Given the description of an element on the screen output the (x, y) to click on. 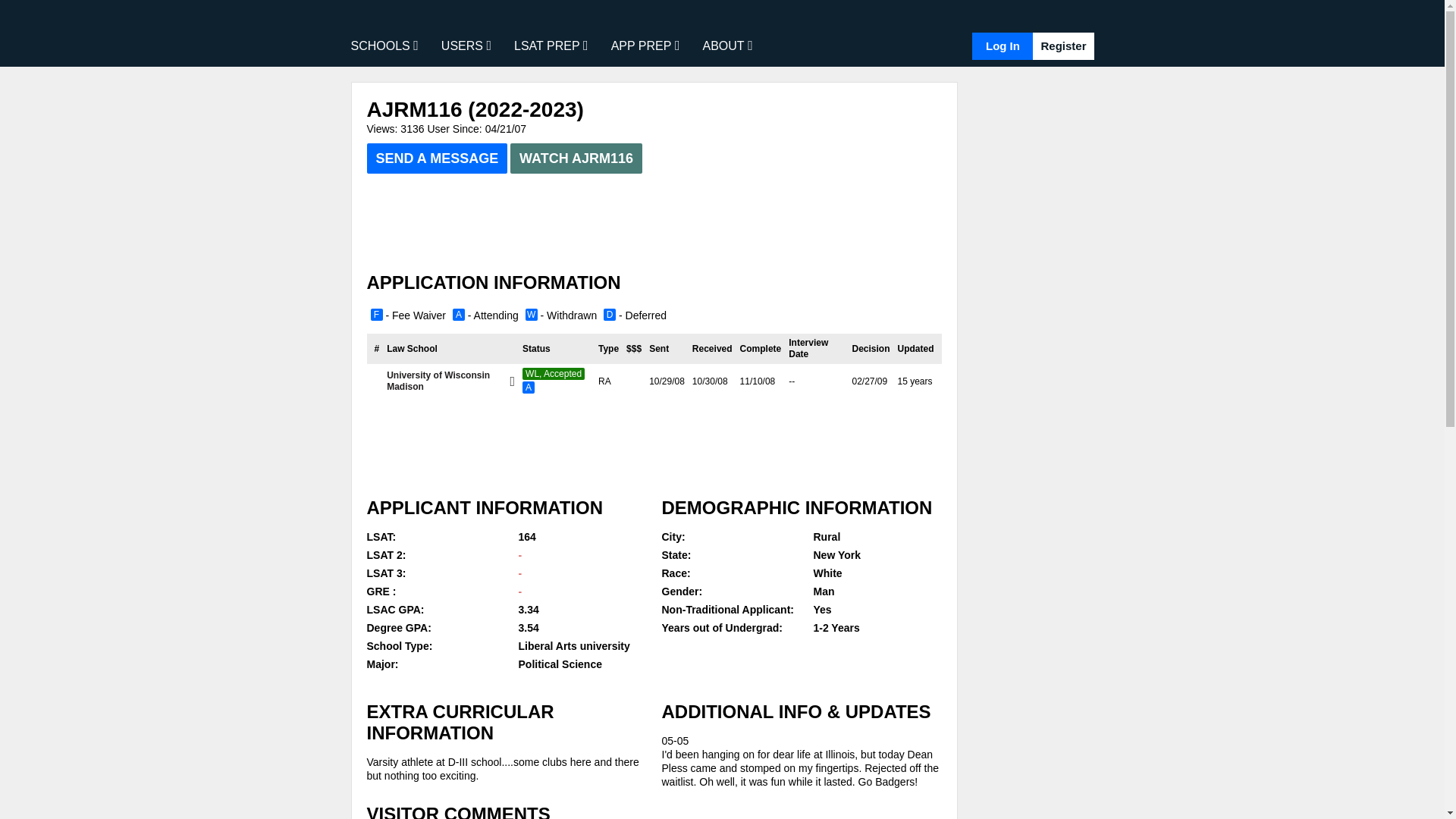
Received (712, 347)
Regular Application (604, 380)
Status (536, 347)
Type (608, 347)
Log In (1002, 44)
LSAT PREP (551, 45)
Advertisement (653, 448)
Sent (658, 347)
APP PREP (645, 45)
Register (1062, 44)
